Given the description of an element on the screen output the (x, y) to click on. 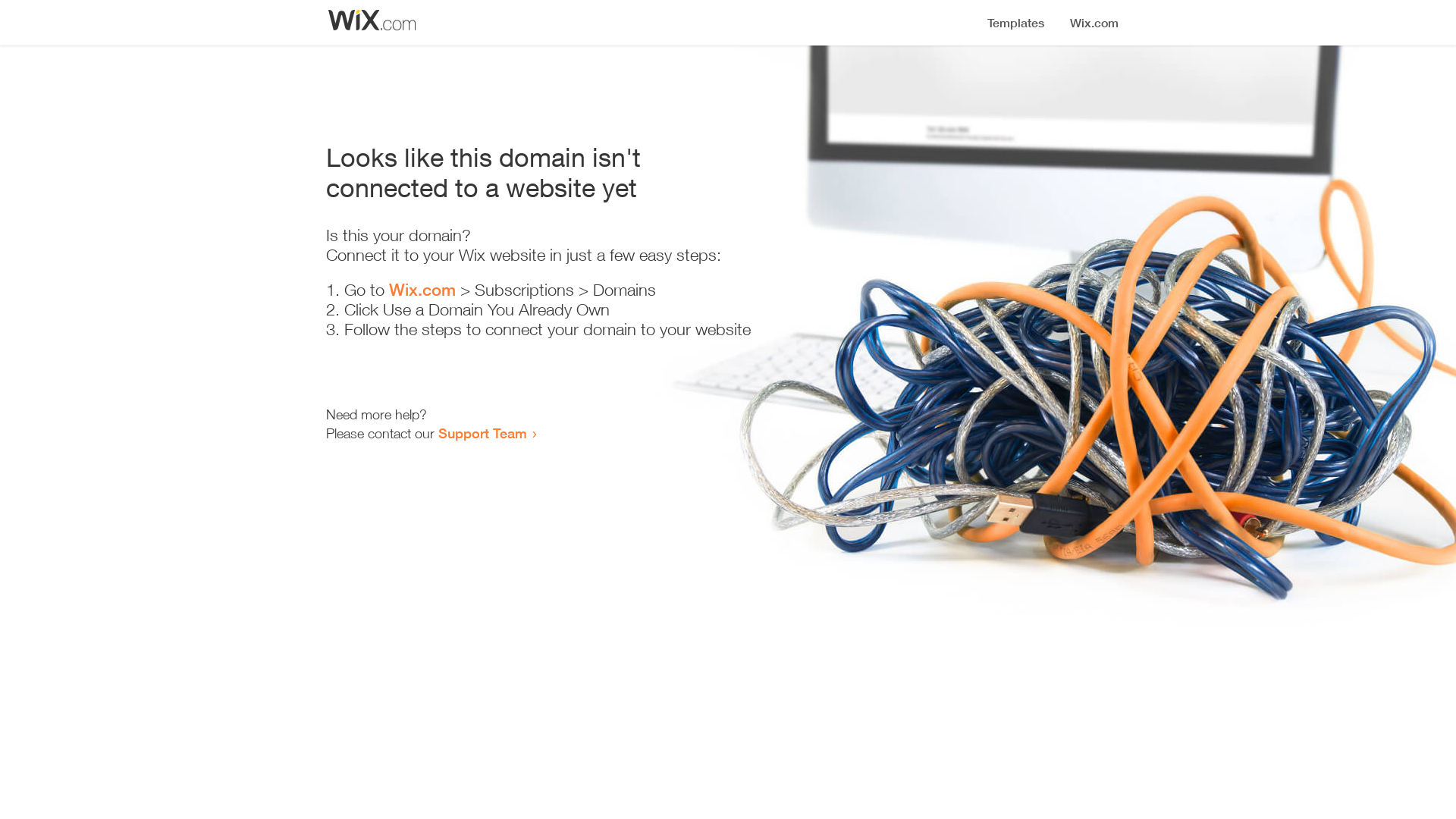
Support Team Element type: text (482, 432)
Wix.com Element type: text (422, 289)
